Given the description of an element on the screen output the (x, y) to click on. 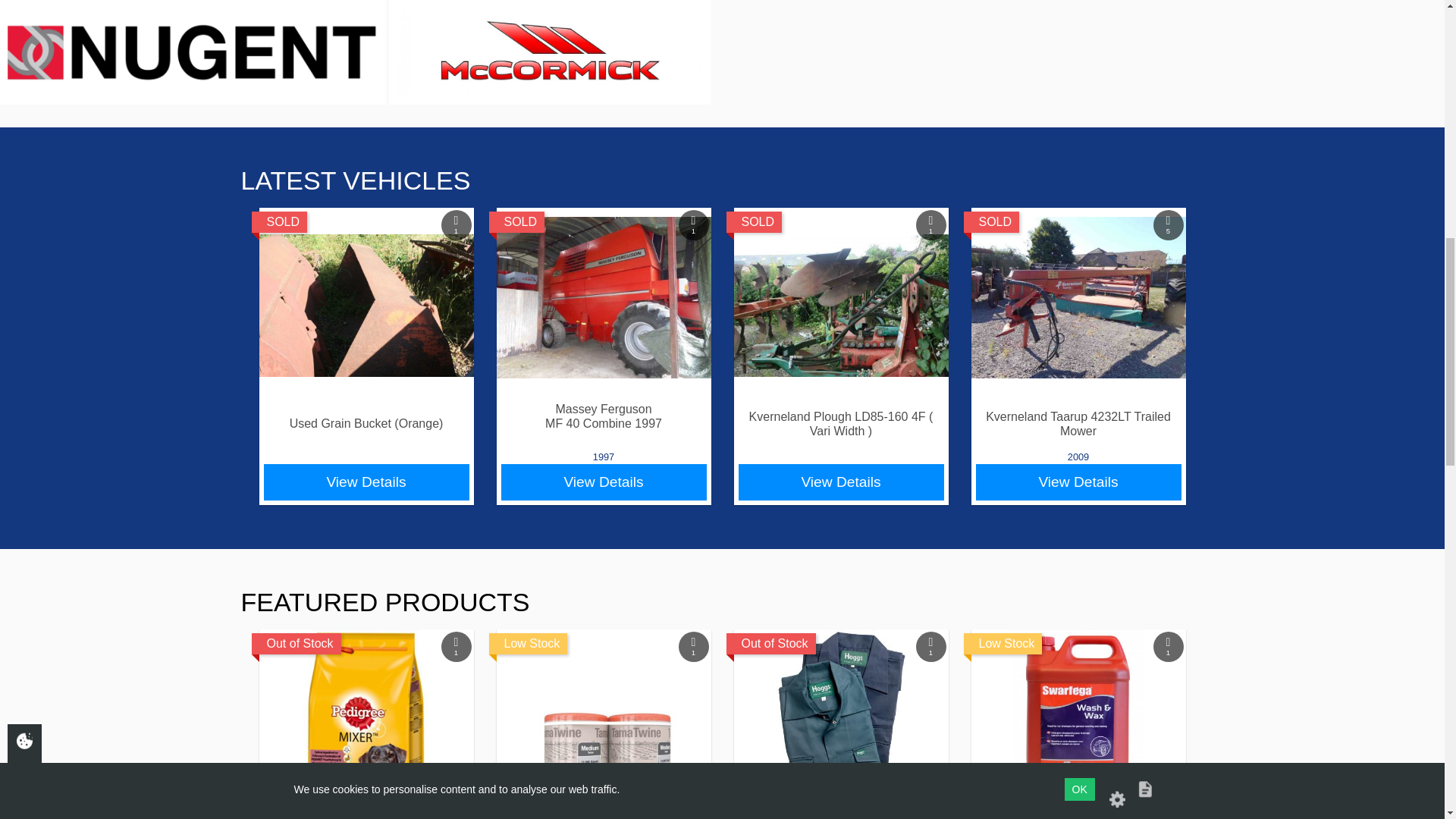
1 (603, 293)
View Details (365, 482)
1 (366, 293)
